Given the description of an element on the screen output the (x, y) to click on. 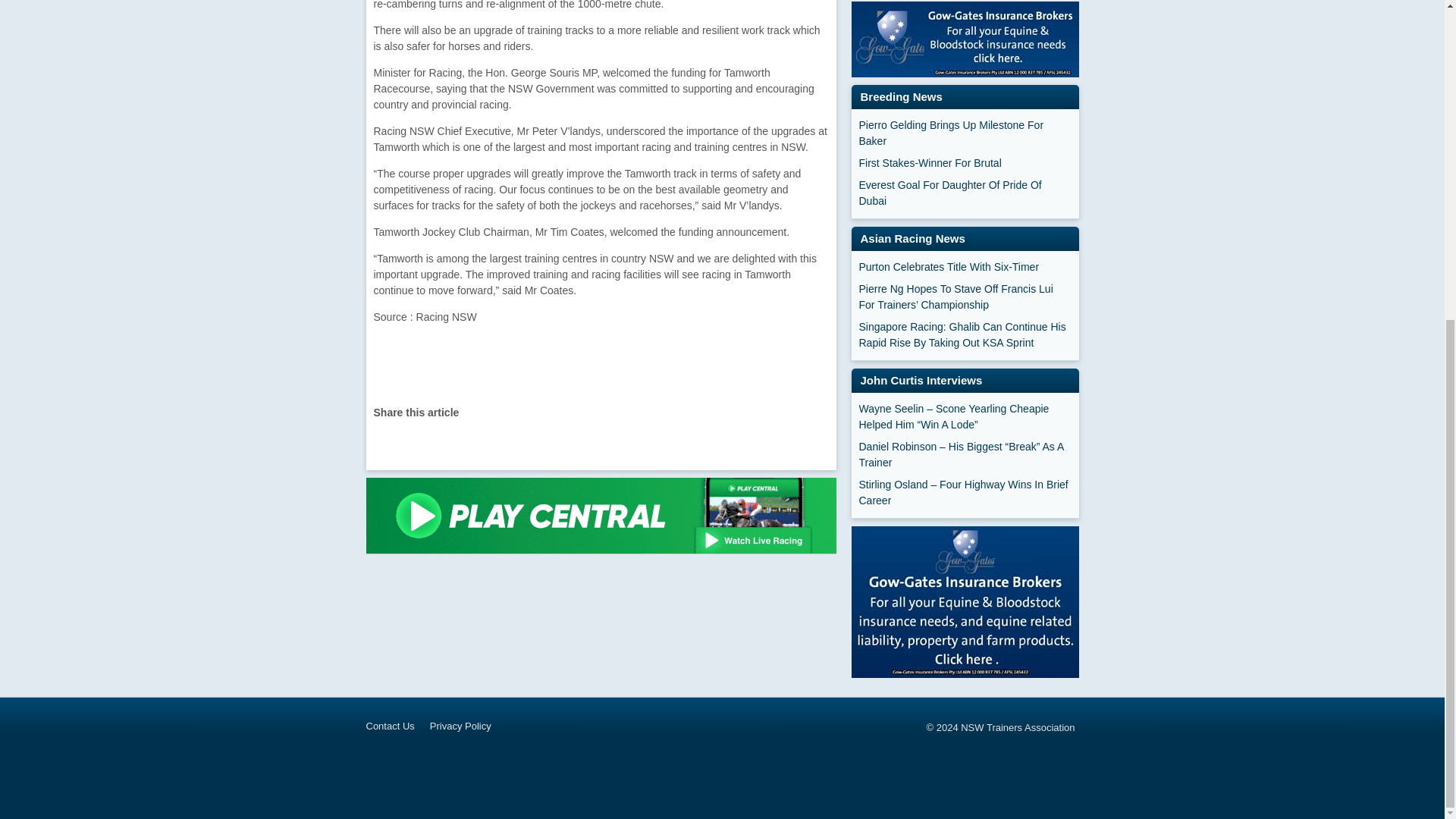
Privacy Policy (467, 726)
First Stakes-Winner For Brutal (964, 163)
Everest Goal For Daughter Of Pride Of Dubai (964, 193)
Contact Us (397, 726)
Breeding News (901, 96)
Purton Celebrates Title With Six-Timer (964, 267)
Pierro Gelding Brings Up Milestone For Baker (964, 133)
John Curtis Interviews (920, 379)
Asian Racing News (911, 237)
